Given the description of an element on the screen output the (x, y) to click on. 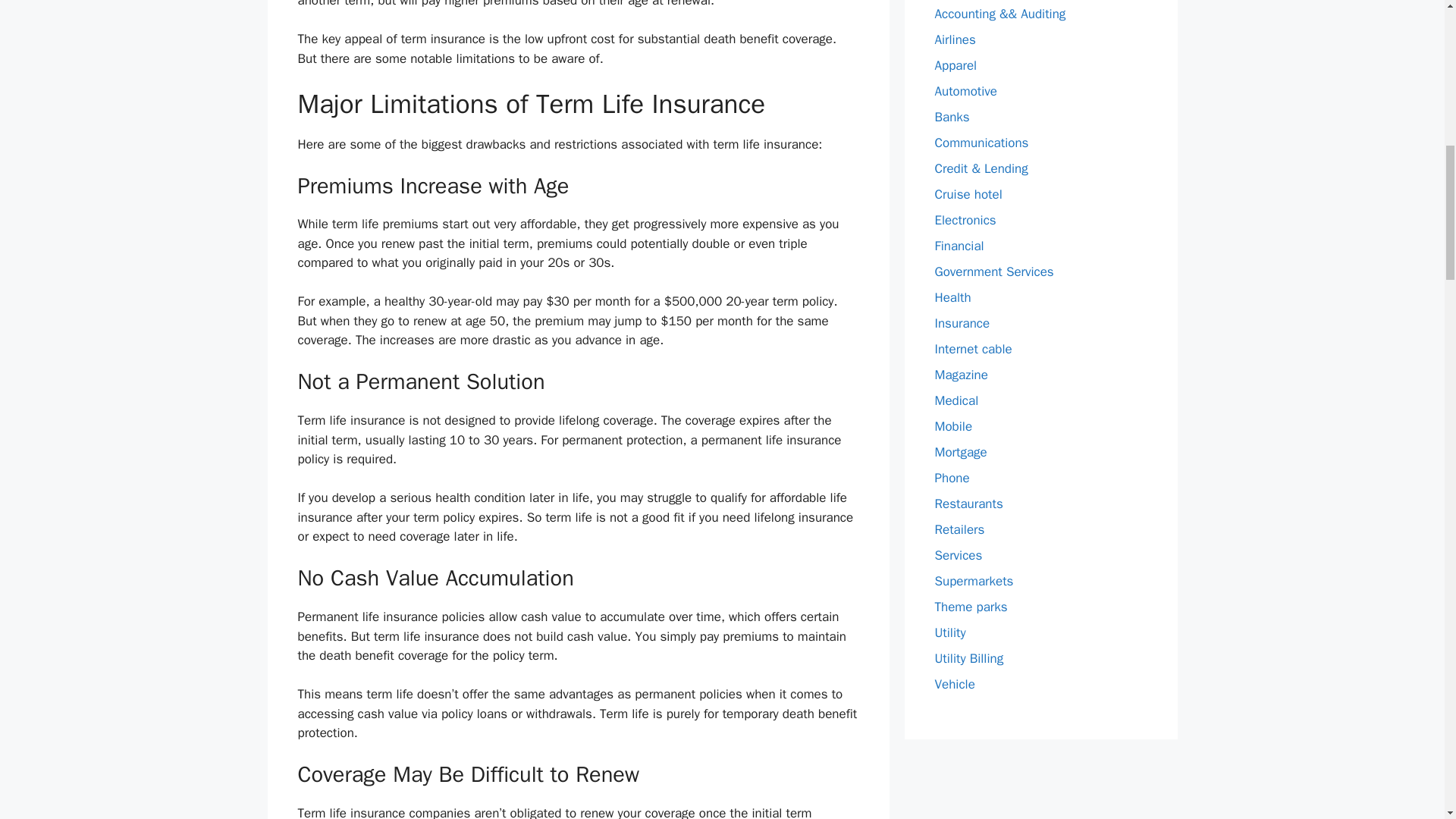
Banks (951, 116)
Airlines (954, 39)
Cruise hotel (967, 194)
Insurance (962, 323)
Communications (980, 142)
Government Services (993, 271)
Financial (959, 245)
Apparel (955, 65)
Health (952, 297)
Automotive (965, 91)
Electronics (964, 220)
